Given the description of an element on the screen output the (x, y) to click on. 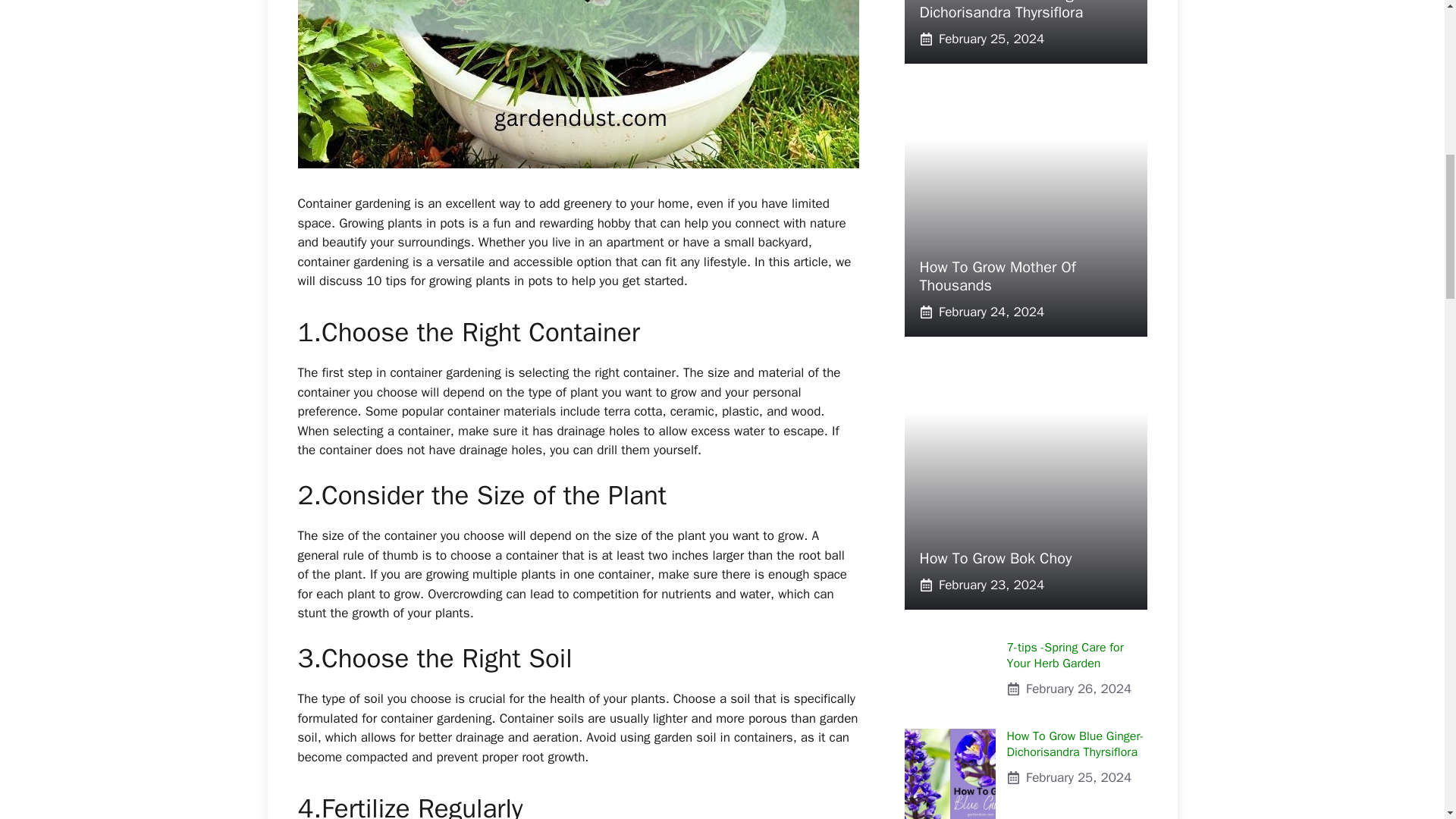
How To Grow Mother Of Thousands (996, 275)
Scroll back to top (1025, 237)
How To Grow Blue Ginger-Dichorisandra Thyrsiflora (1406, 720)
How To Grow Bok Choy (1025, 653)
7-tips -Spring Care for Your Herb Garden (1025, 510)
How To Grow Blue Ginger-Dichorisandra Thyrsiflora (1075, 744)
